Given the description of an element on the screen output the (x, y) to click on. 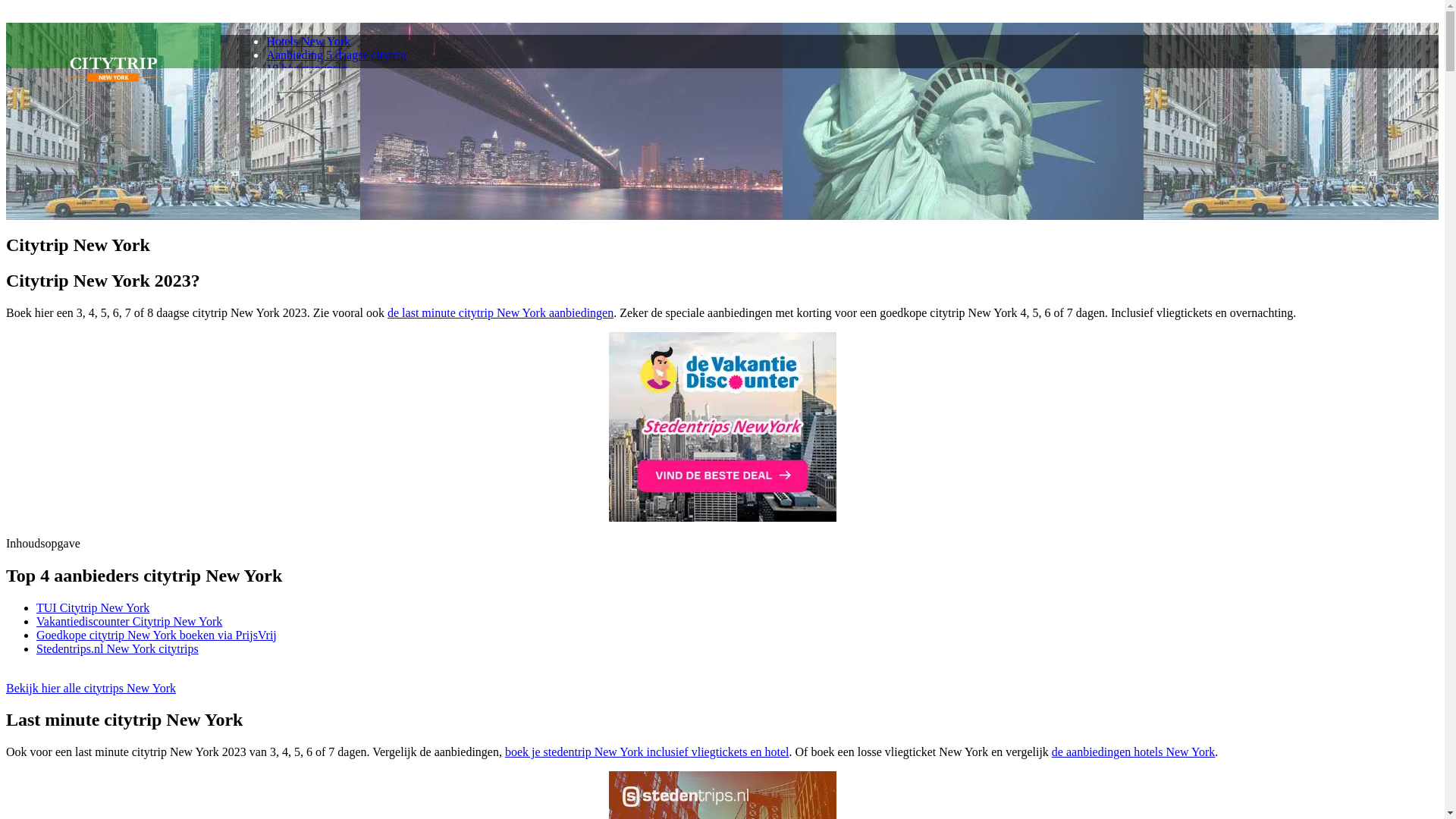
10 hoogtepunten Element type: text (306, 68)
Stedentrips.nl New York citytrips Element type: text (117, 648)
Goedkope citytrip New York boeken via PrijsVrij Element type: text (156, 634)
Vakantiediscounter Citytrip New York Element type: text (129, 621)
Hotels New York Element type: text (308, 40)
de aanbiedingen hotels New York Element type: text (1133, 751)
Aanbieding 5 daagse citytrip Element type: text (335, 54)
boek je stedentrip New York inclusief vliegtickets en hotel Element type: text (647, 751)
de last minute citytrip New York aanbiedingen Element type: text (500, 312)
Bekijk hier alle citytrips New York Element type: text (90, 687)
TUI Citytrip New York Element type: text (92, 607)
